Given the description of an element on the screen output the (x, y) to click on. 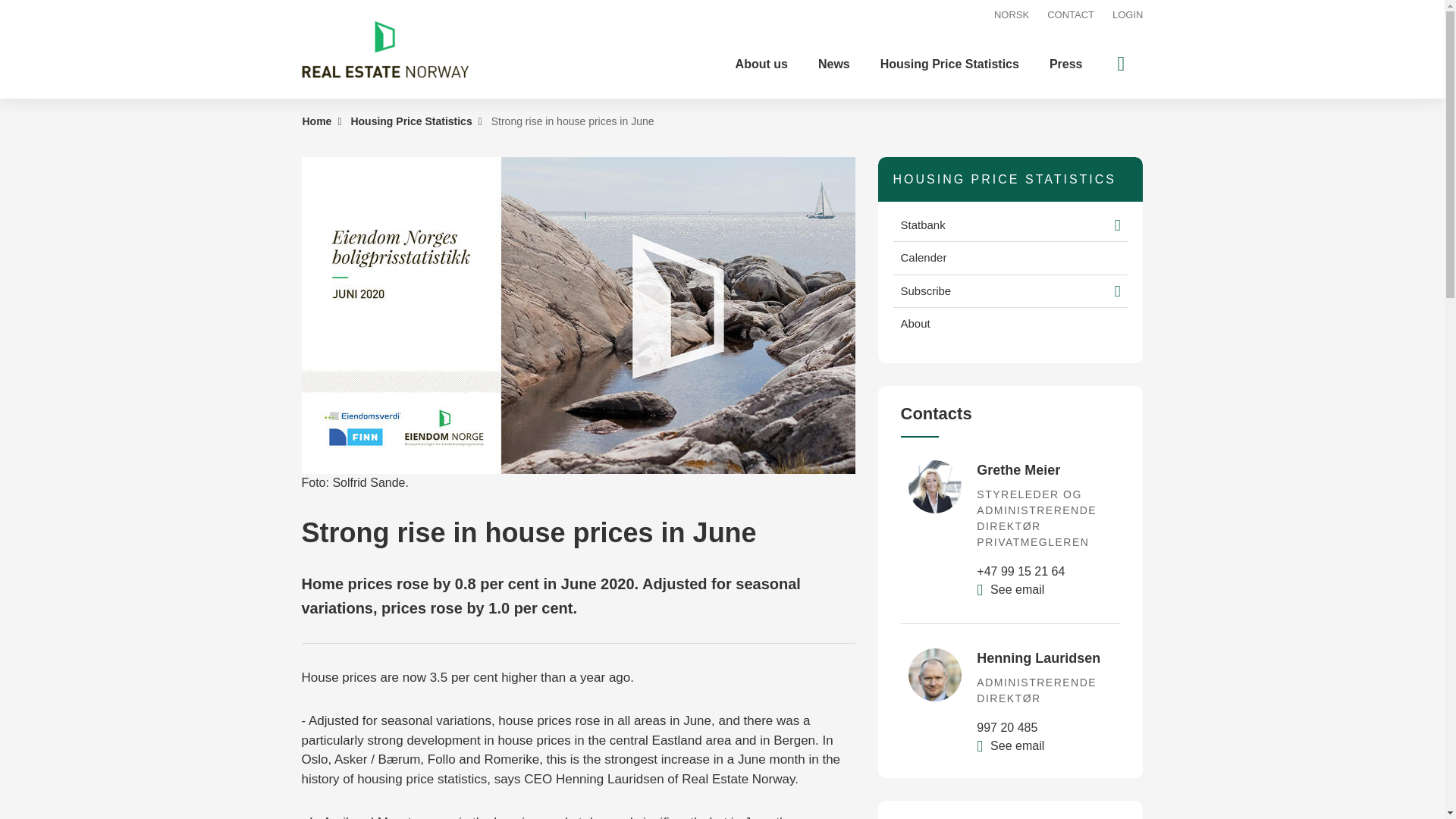
Calender (1010, 257)
CONTACT (1070, 15)
NORSK (1011, 15)
News (833, 63)
Home (316, 121)
Housing Price Statistics (410, 121)
Statbank (999, 225)
About us (761, 63)
Housing Price Statistics (948, 63)
Press (1065, 63)
LOGIN (1127, 15)
Subscribe (999, 291)
About (1010, 323)
